Given the description of an element on the screen output the (x, y) to click on. 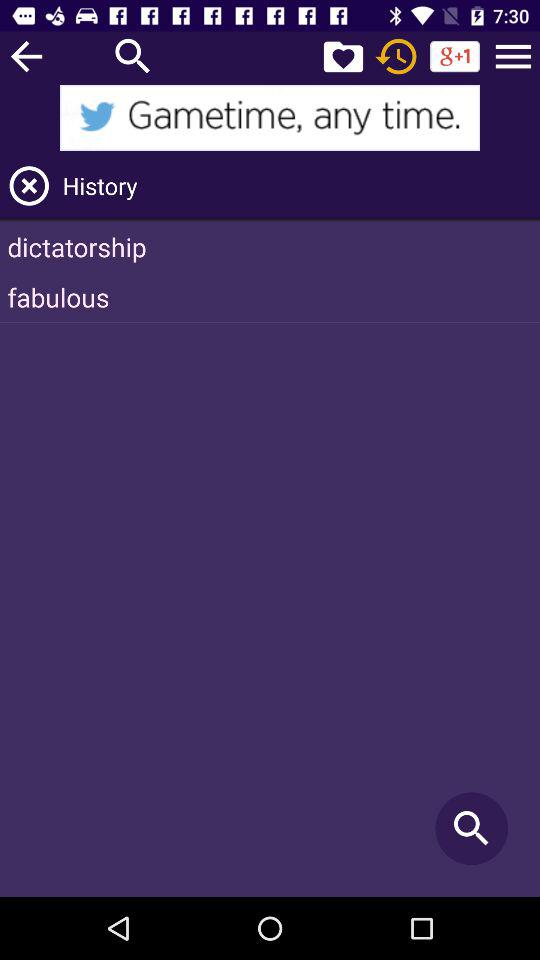
turn off item at the bottom right corner (471, 828)
